Given the description of an element on the screen output the (x, y) to click on. 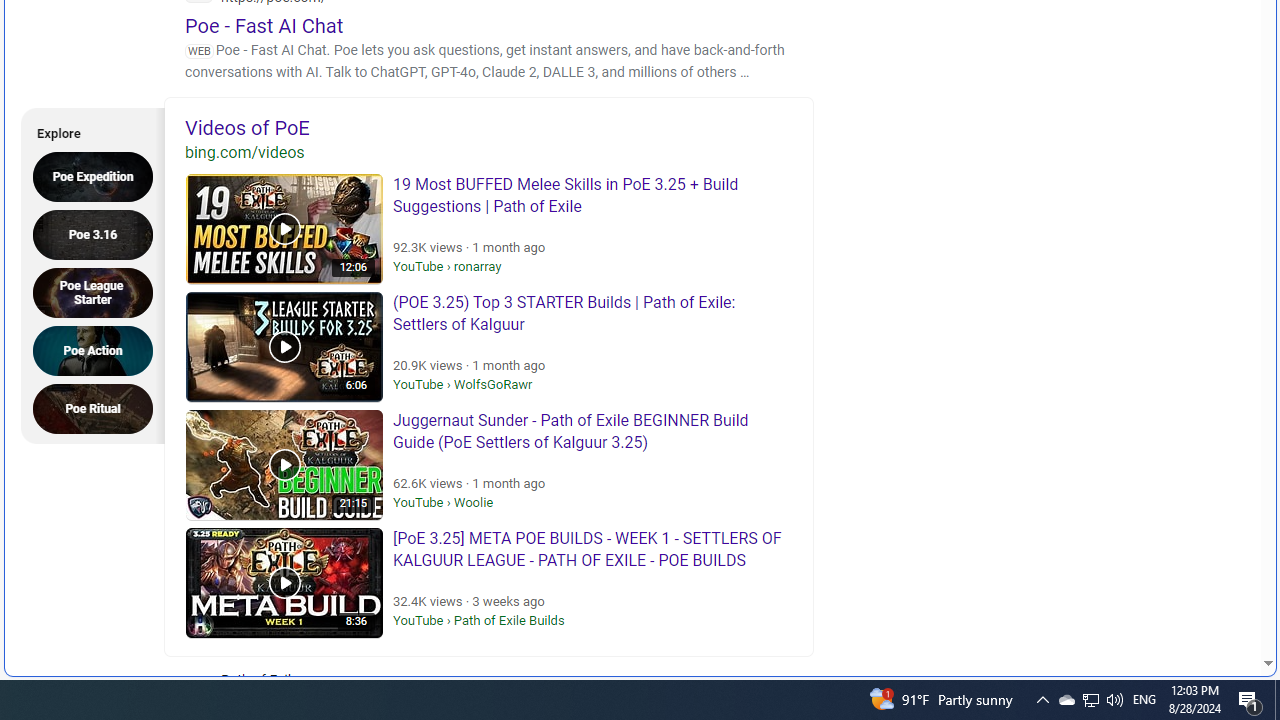
Path of Exile (324, 692)
Poe Expedition (99, 176)
